Given the description of an element on the screen output the (x, y) to click on. 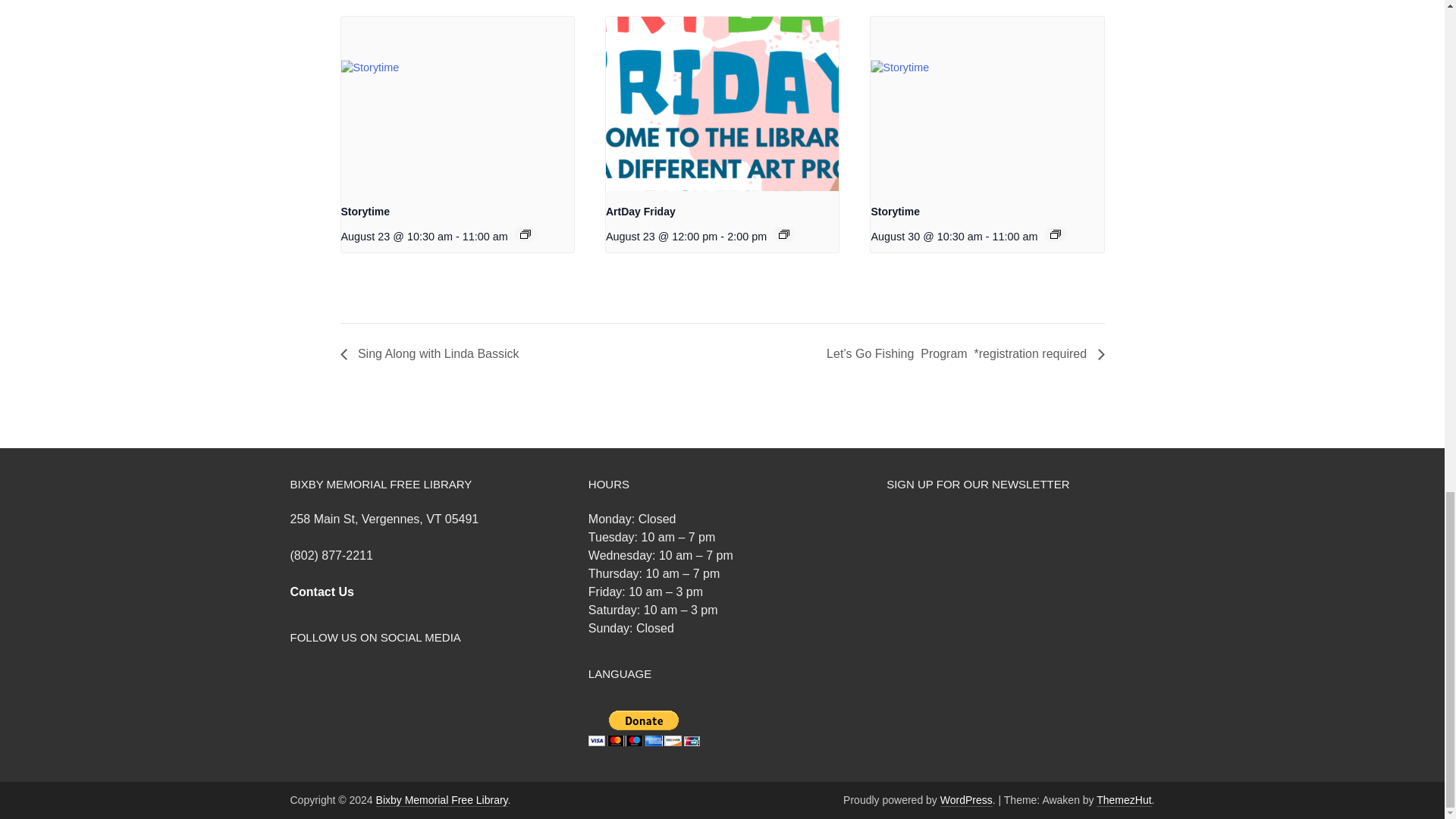
Event Series (1055, 234)
Event Series (783, 234)
PayPal - The safer, easier way to pay online! (644, 728)
Event Series (525, 234)
WordPress (966, 799)
Bixby Memorial Free Library (441, 799)
